Given the description of an element on the screen output the (x, y) to click on. 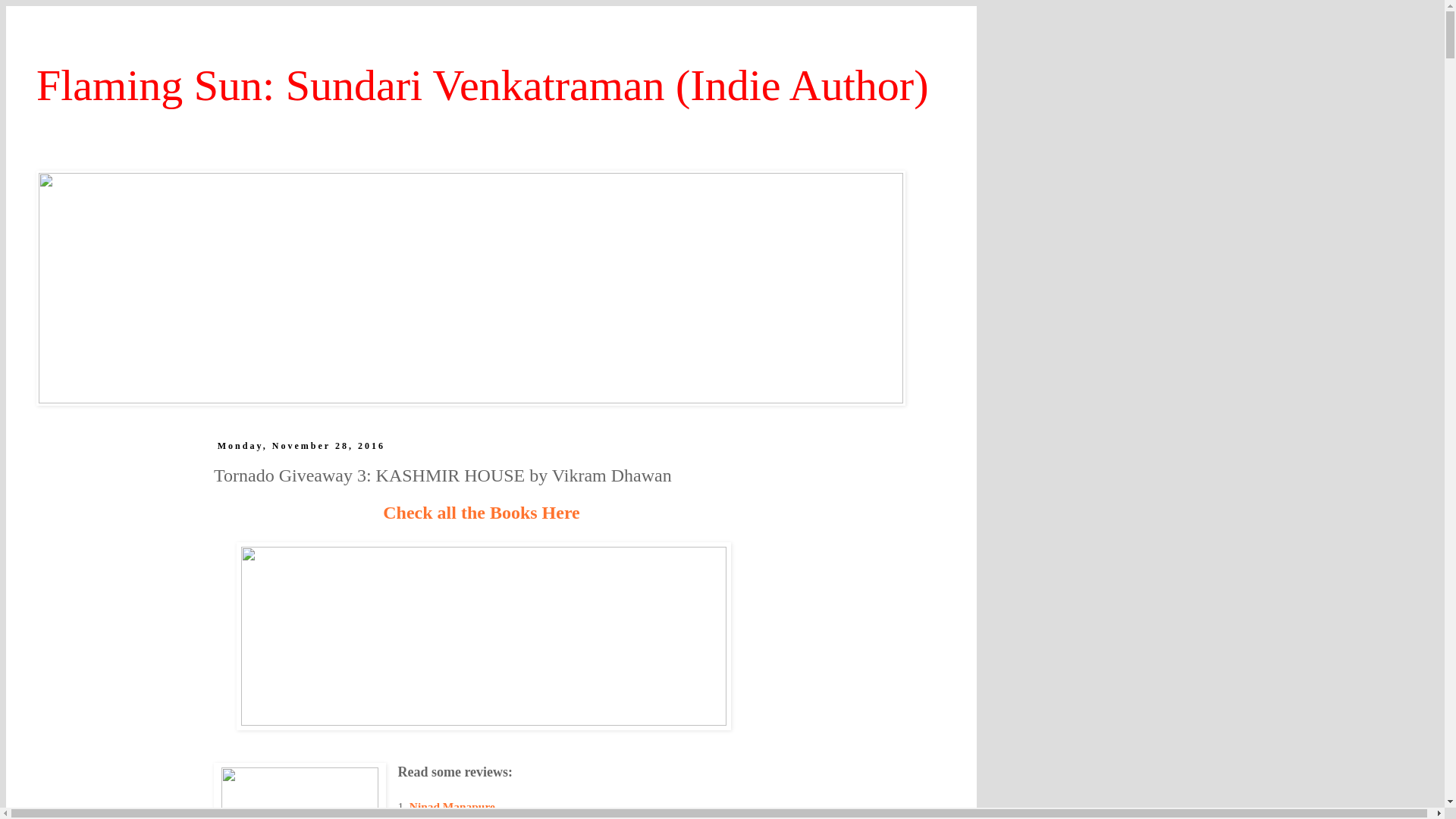
Check all the Books Here (480, 512)
Ninad Manapure (452, 806)
Gaurang Agrawal (454, 817)
